Given the description of an element on the screen output the (x, y) to click on. 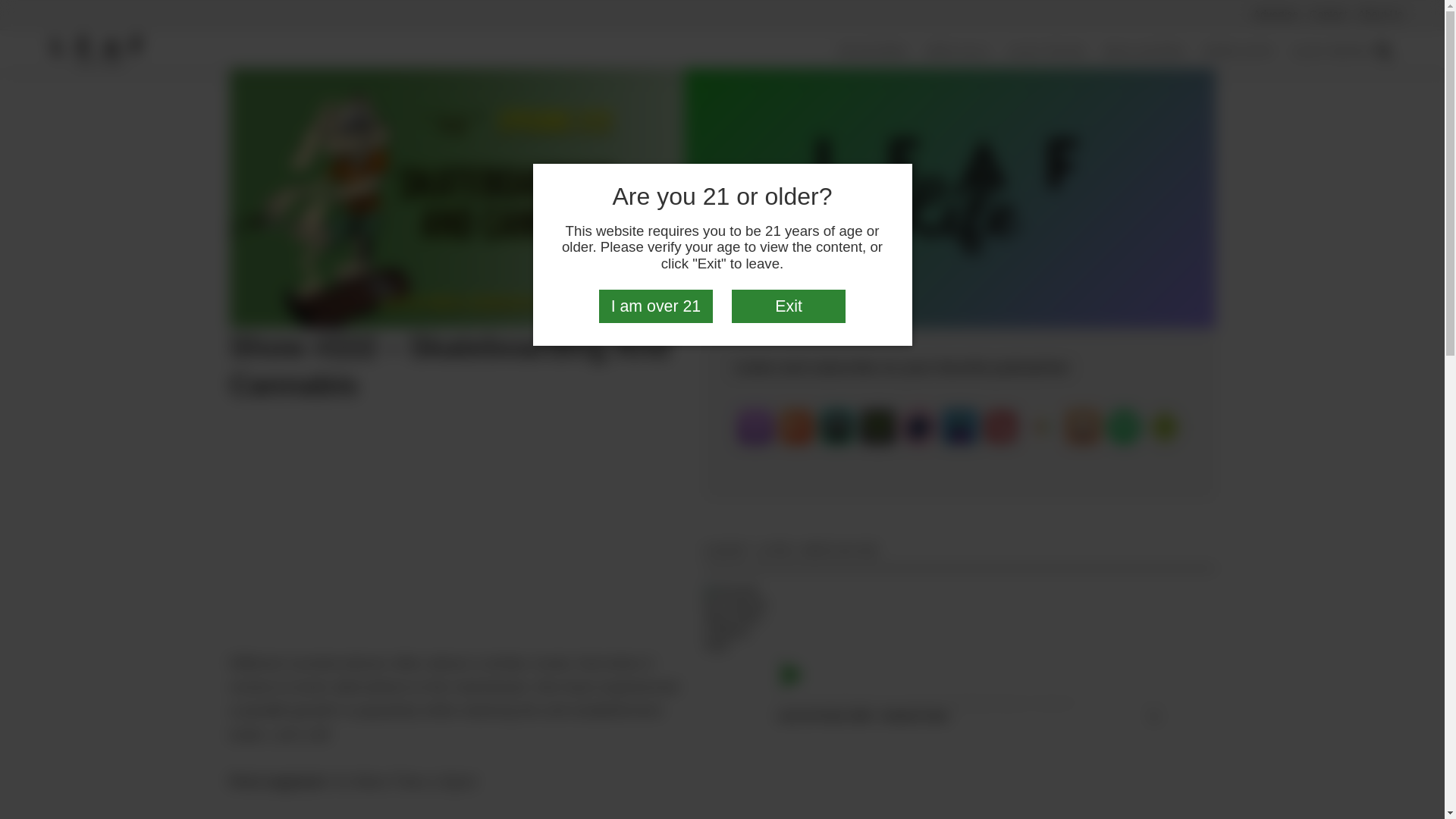
LEAF BOWL (1331, 51)
Advertise (1275, 14)
Contact (1328, 14)
Embed Player (458, 545)
About Us (1380, 14)
SPECIALS (957, 51)
LEAF PICKS (1047, 51)
MAGAZINES (1145, 51)
FEATURES (874, 51)
PODCASTS (1238, 51)
